Given the description of an element on the screen output the (x, y) to click on. 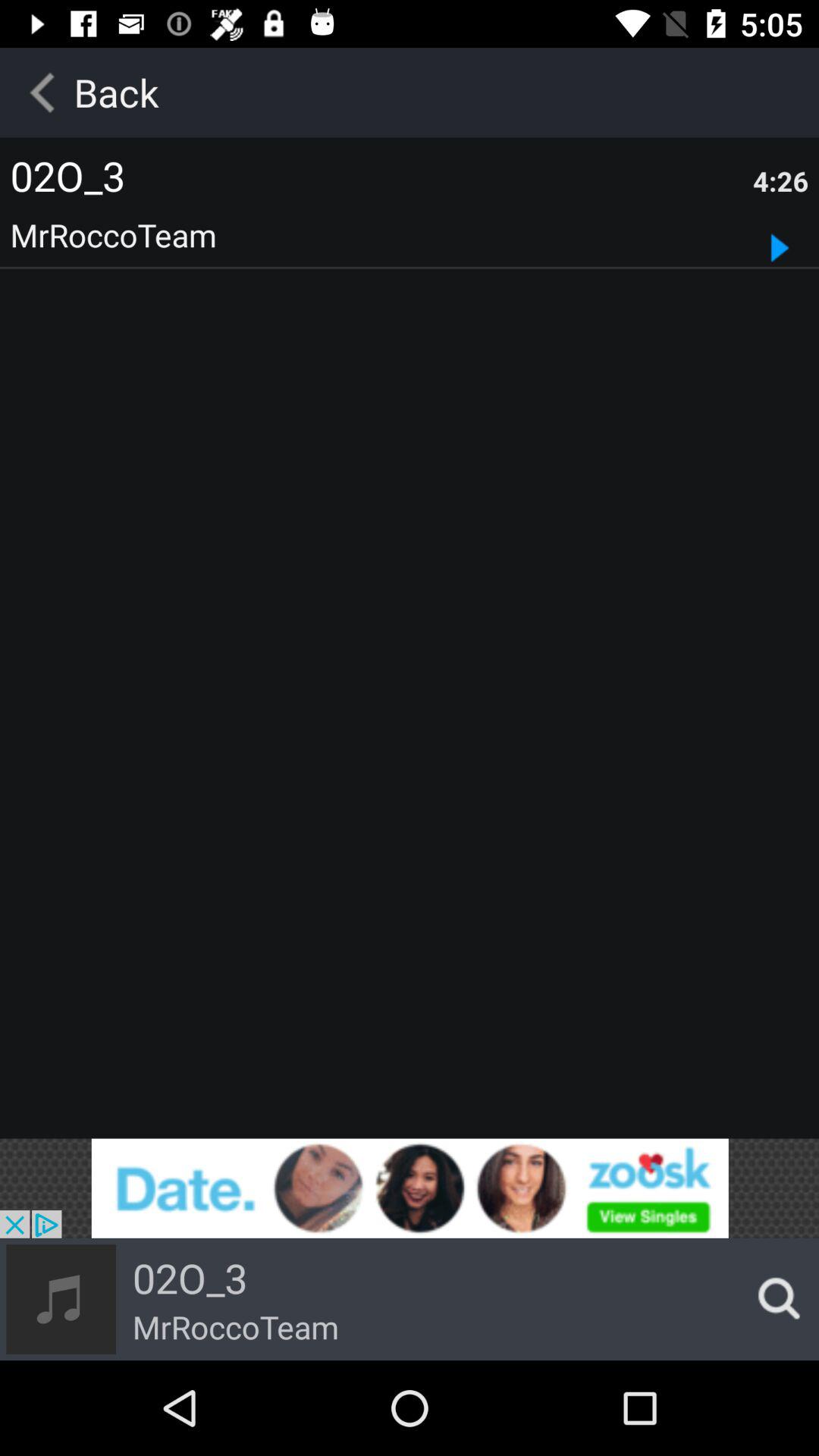
advertisement (409, 1188)
